Given the description of an element on the screen output the (x, y) to click on. 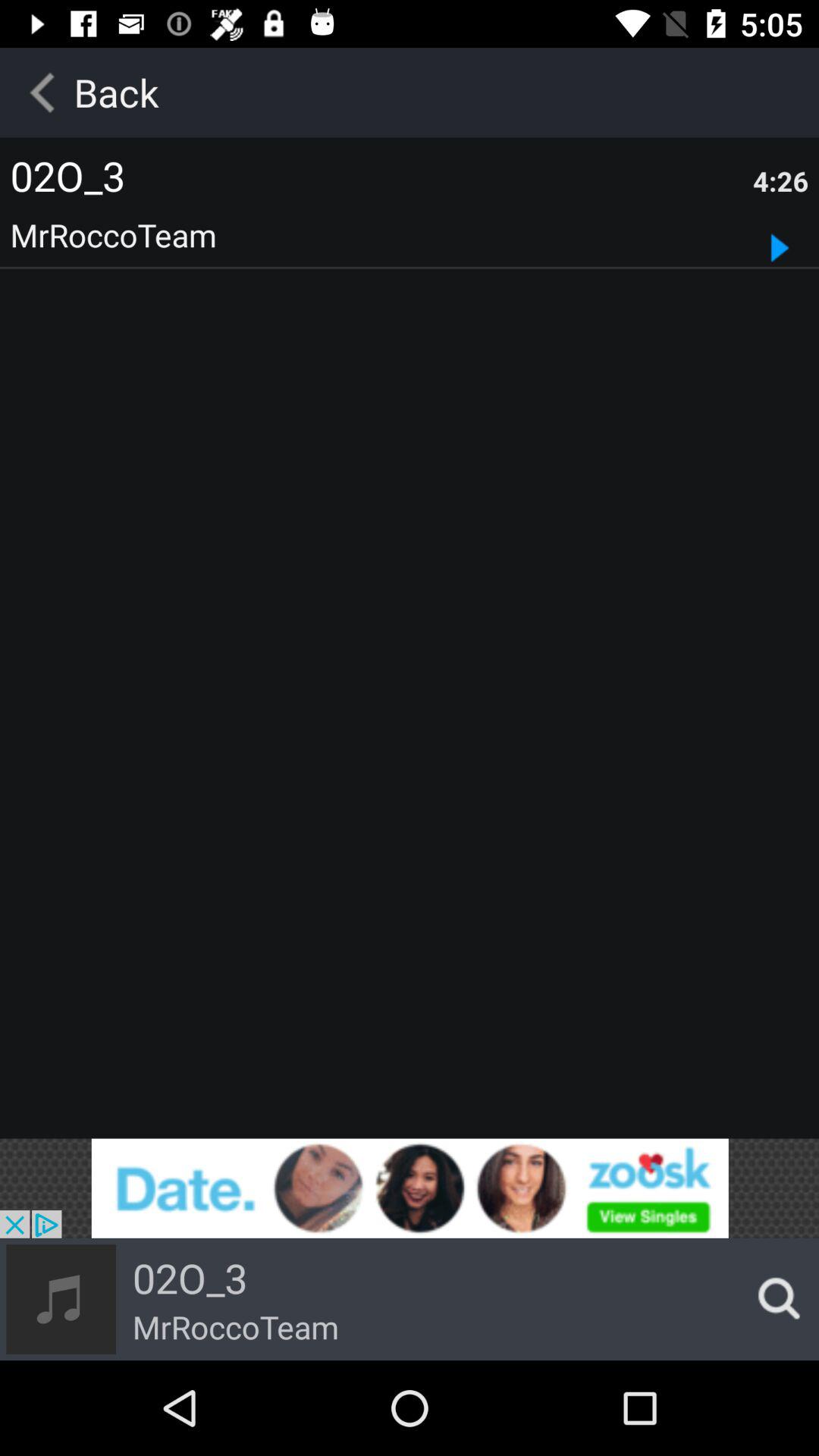
advertisement (409, 1188)
